Given the description of an element on the screen output the (x, y) to click on. 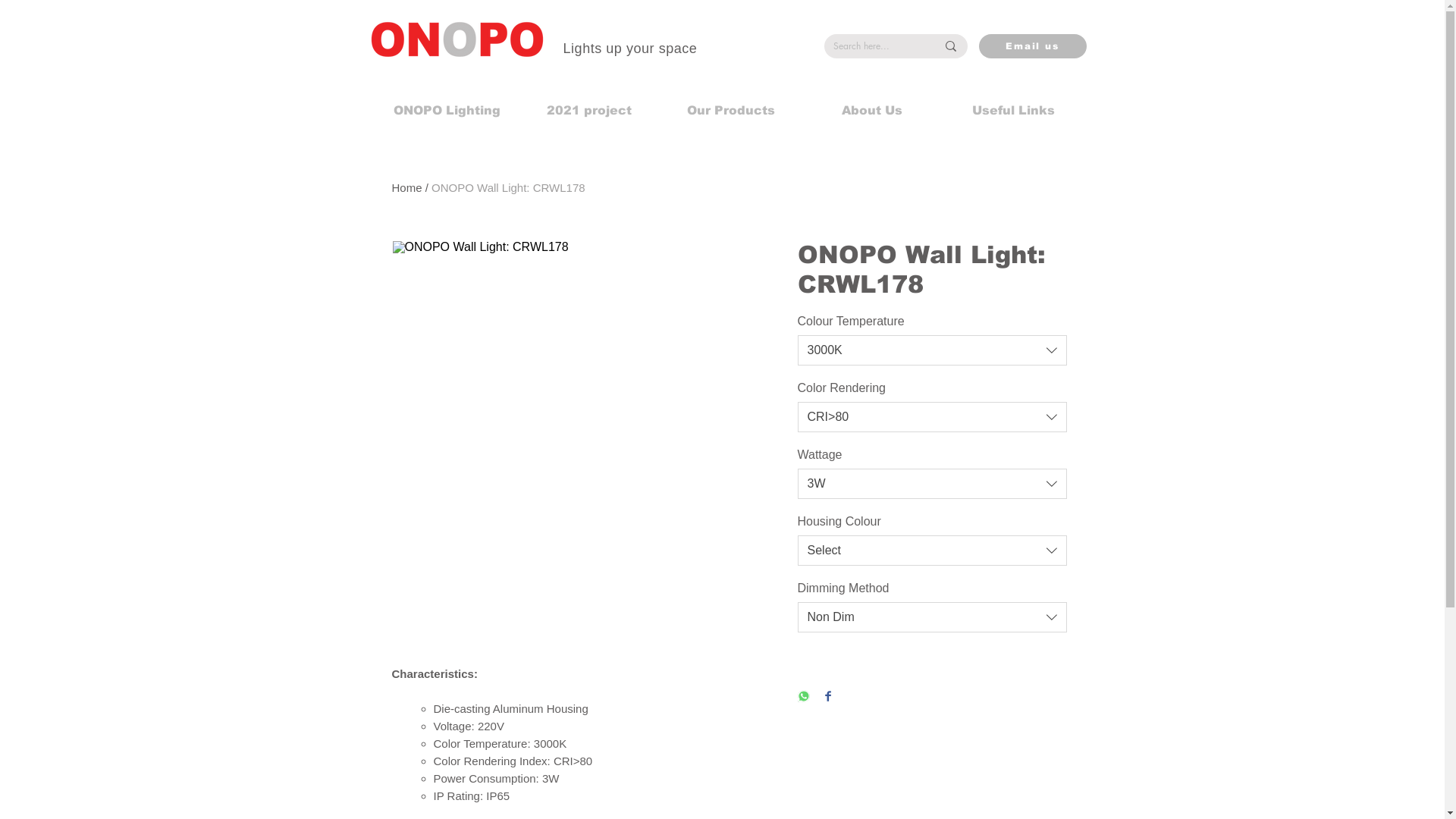
About Us Element type: text (870, 110)
ONOPO Lighting Element type: text (446, 110)
Email us Element type: text (1031, 46)
2021 project Element type: text (587, 110)
Useful Links Element type: text (1011, 110)
3W Element type: text (931, 483)
Select Element type: text (931, 550)
Non Dim Element type: text (931, 617)
Our Products Element type: text (730, 110)
CRI>80 Element type: text (931, 416)
3000K Element type: text (931, 350)
Onopo Lighting Element type: text (429, 187)
